Given the description of an element on the screen output the (x, y) to click on. 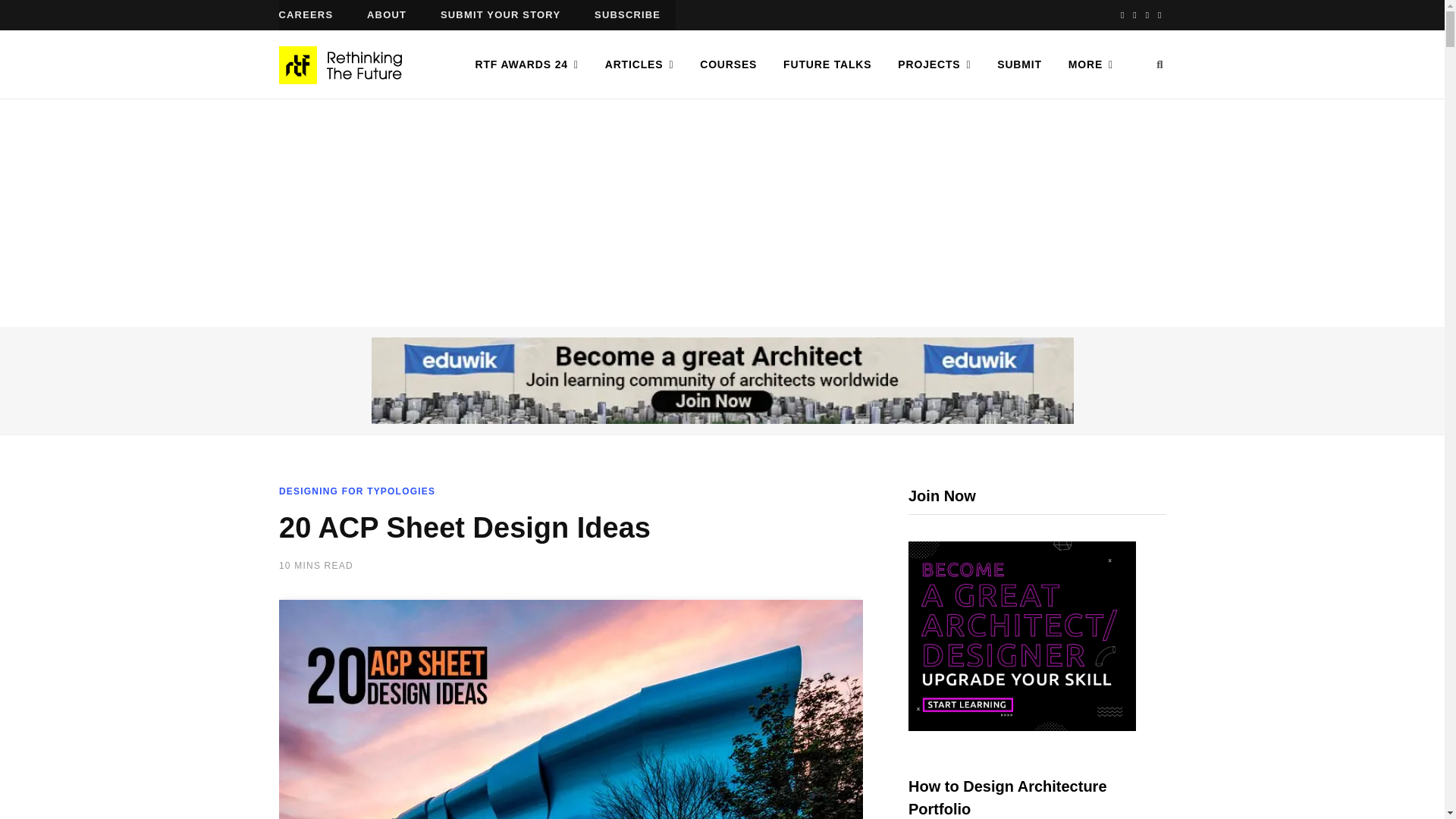
20 ACP Sheet Design Ideas (571, 708)
RTF AWARDS 24 (526, 64)
SUBMIT YOUR STORY (500, 15)
SUBSCRIBE (627, 15)
ABOUT (387, 15)
CAREERS (306, 15)
